Given the description of an element on the screen output the (x, y) to click on. 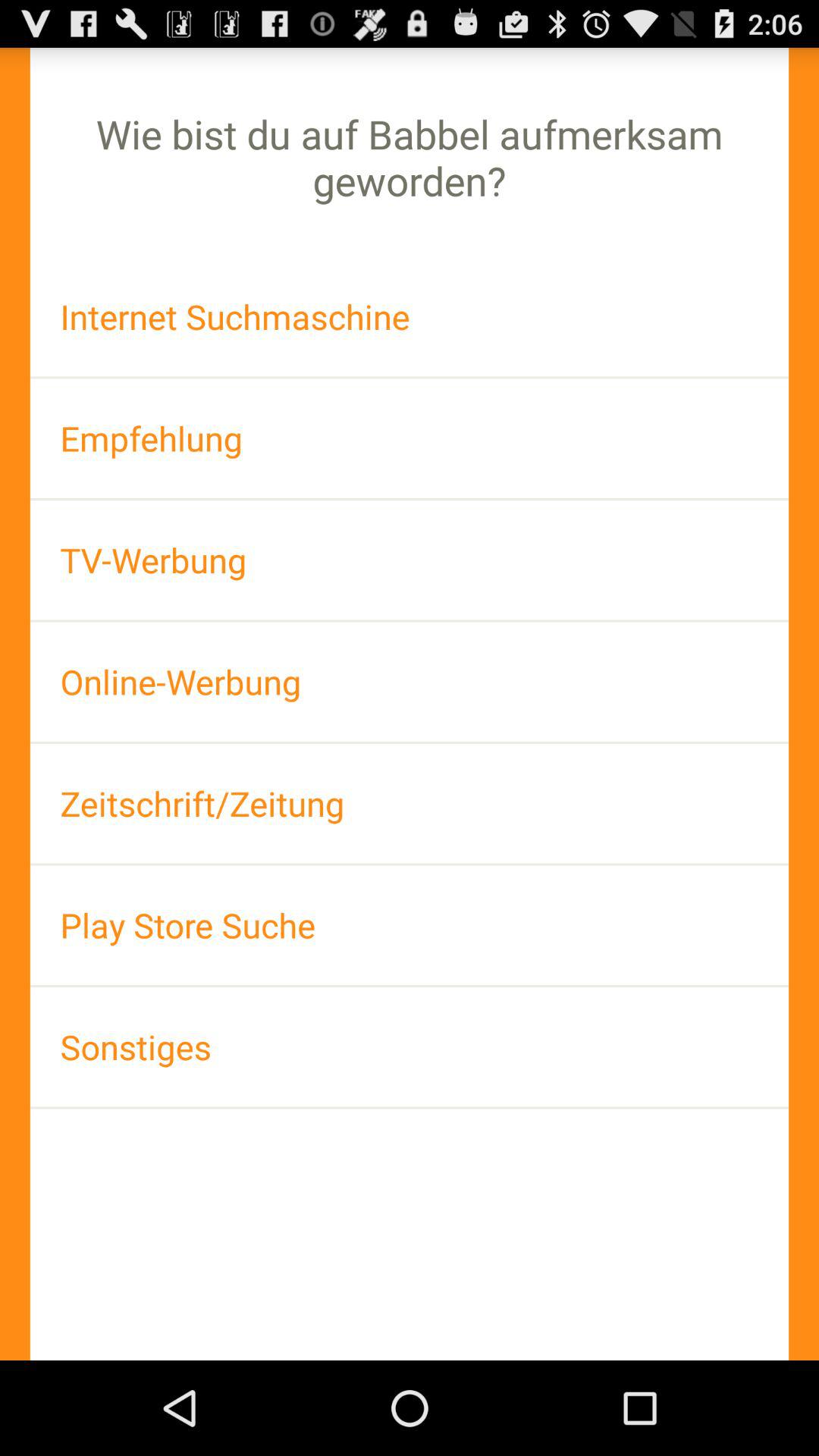
launch icon below tv-werbung app (409, 681)
